Given the description of an element on the screen output the (x, y) to click on. 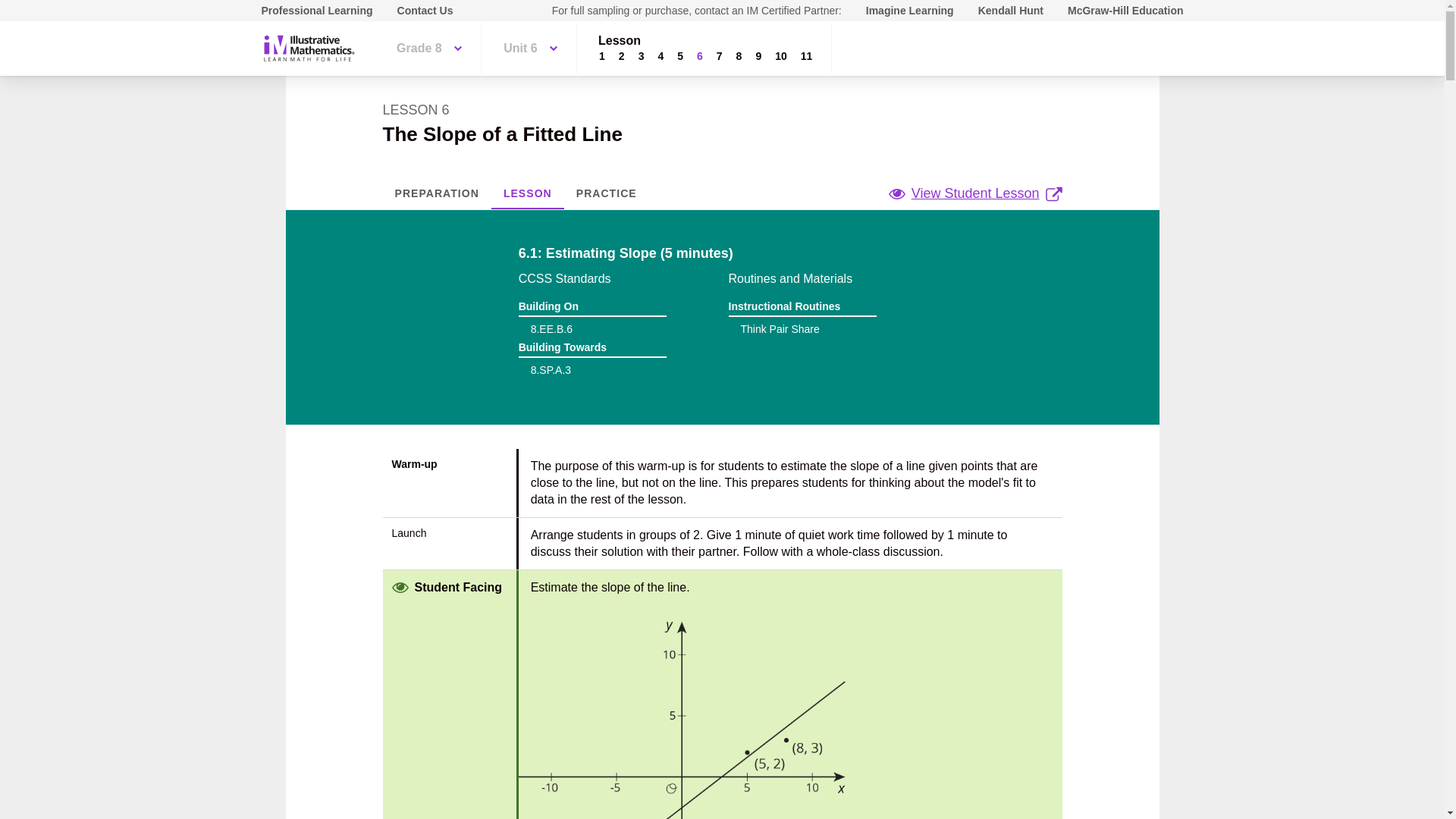
Unit 6 (529, 48)
7 (719, 55)
View Student Lesson (975, 193)
McGraw-Hill Education (1125, 10)
Professional Learning (316, 10)
8.EE.B.6 (551, 328)
Contact Us (425, 10)
Imagine Learning (909, 10)
9 (758, 55)
5 (679, 55)
